Given the description of an element on the screen output the (x, y) to click on. 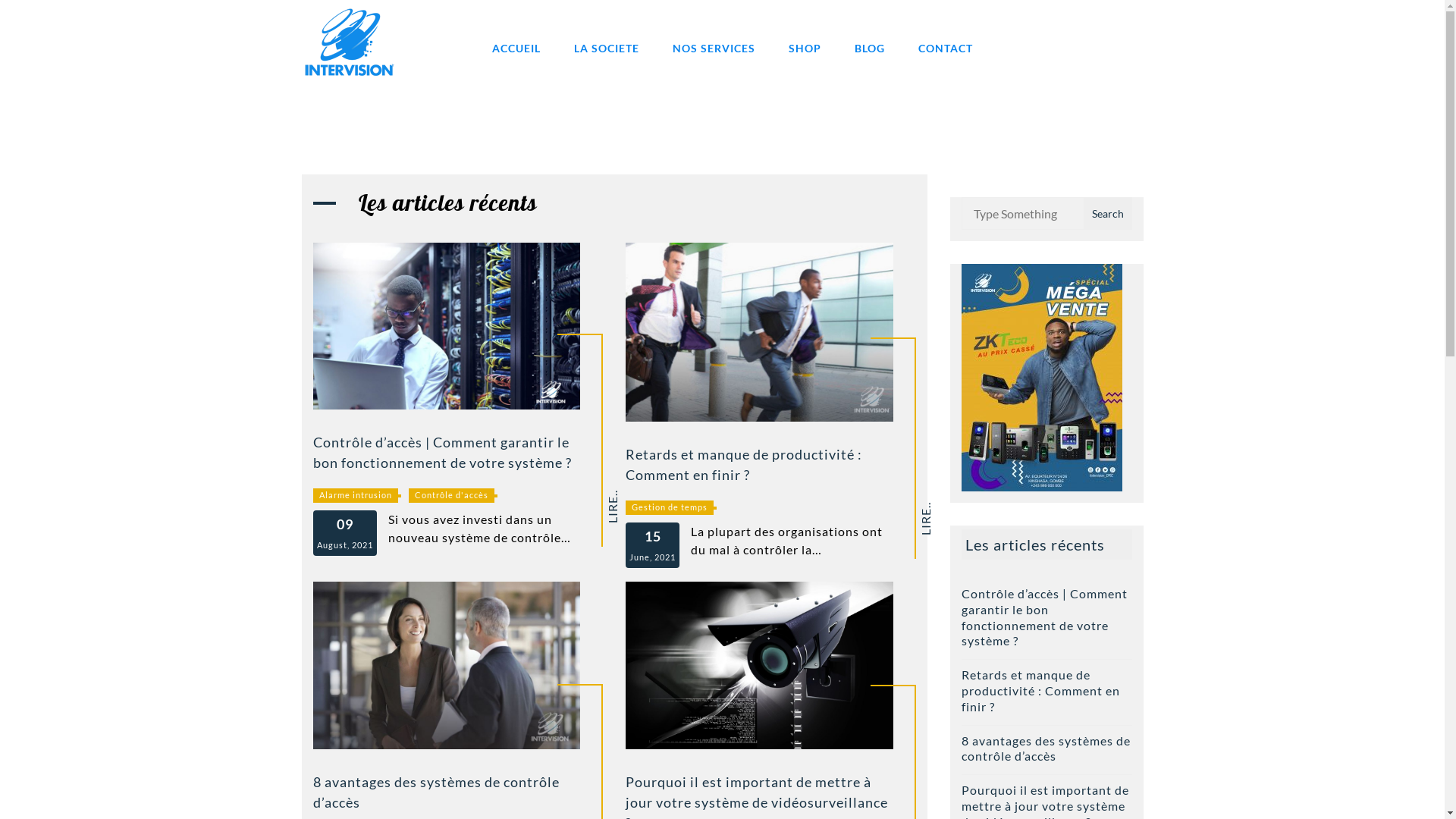
BLOG Element type: text (868, 47)
Intervision RDC Element type: text (457, 96)
CONTACT Element type: text (944, 47)
LIRE.. Element type: text (935, 508)
LA SOCIETE Element type: text (605, 47)
NOS SERVICES Element type: text (712, 47)
LIRE.. Element type: text (623, 495)
Search Element type: text (1106, 213)
ACCUEIL Element type: text (515, 47)
Alarme intrusion Element type: text (354, 495)
Gestion de temps Element type: text (669, 507)
SHOP Element type: text (804, 47)
